Given the description of an element on the screen output the (x, y) to click on. 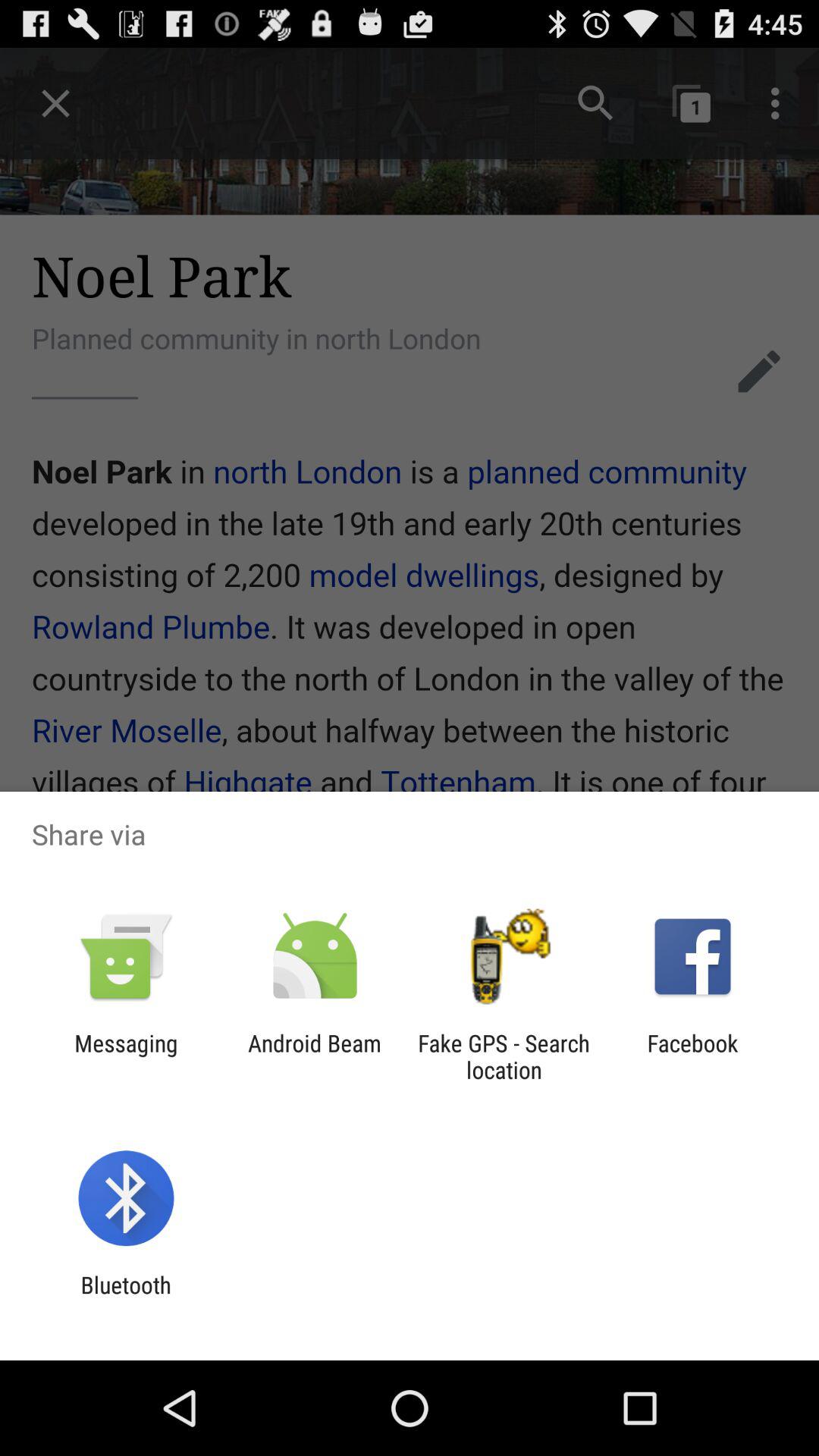
turn on the item next to the messaging app (314, 1056)
